Given the description of an element on the screen output the (x, y) to click on. 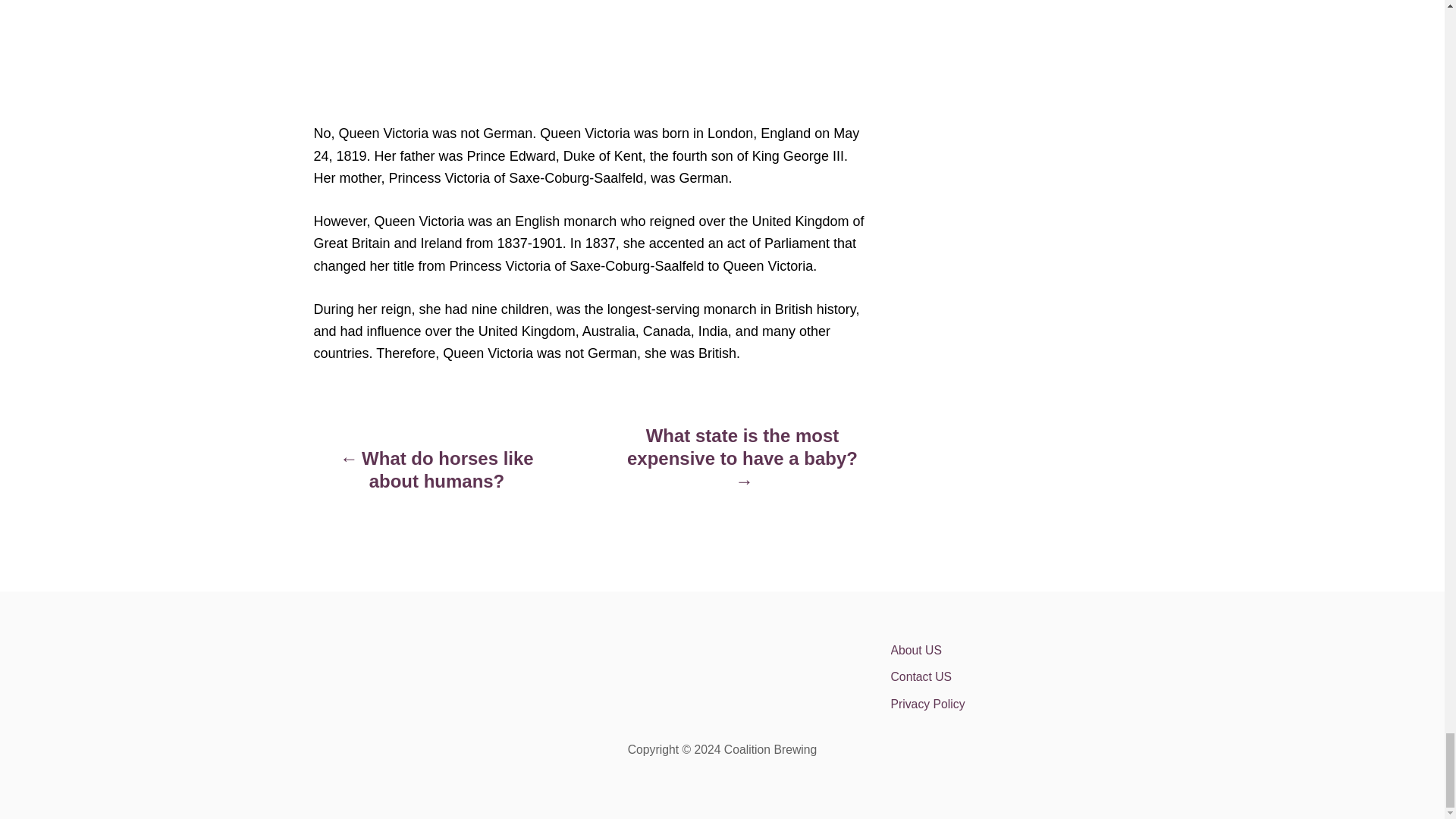
Privacy Policy (1021, 704)
What do horses like about humans? (437, 477)
About US (1021, 650)
Contact US (1021, 677)
What state is the most expensive to have a baby? (741, 466)
